Given the description of an element on the screen output the (x, y) to click on. 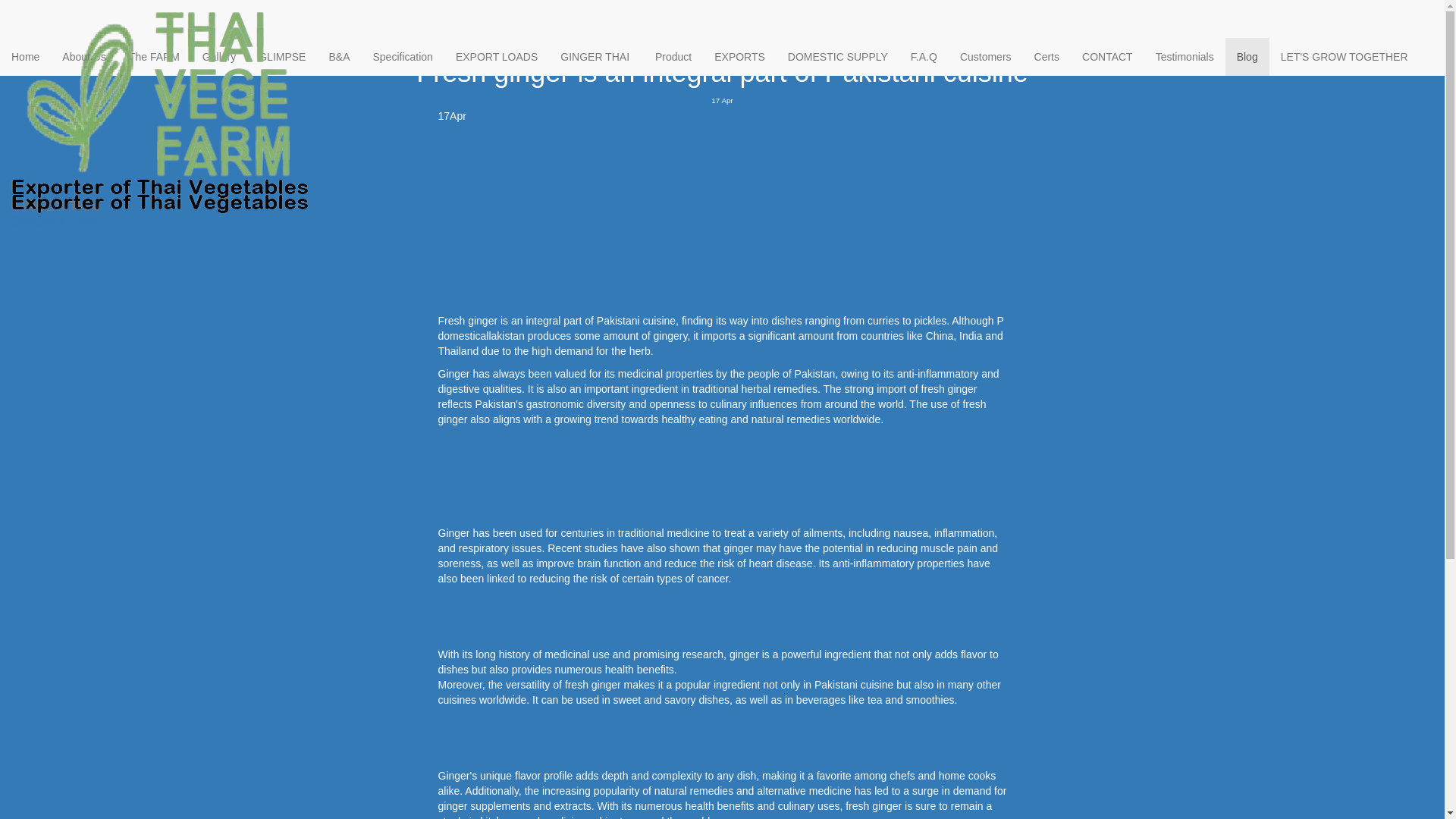
GINGER THAI (160, 18)
LET'S GROW TOGETHER (1344, 56)
About Us (83, 56)
EXPORT LOADS (496, 56)
Testimonials (1184, 56)
Gallery (218, 56)
EXPORTS (739, 56)
The FARM (153, 56)
GINGER THAI (160, 34)
GLIMPSE (282, 56)
Product (673, 56)
Certs (1046, 56)
F.A.Q (924, 56)
Specification (402, 56)
GINGER THAI  (595, 56)
